Given the description of an element on the screen output the (x, y) to click on. 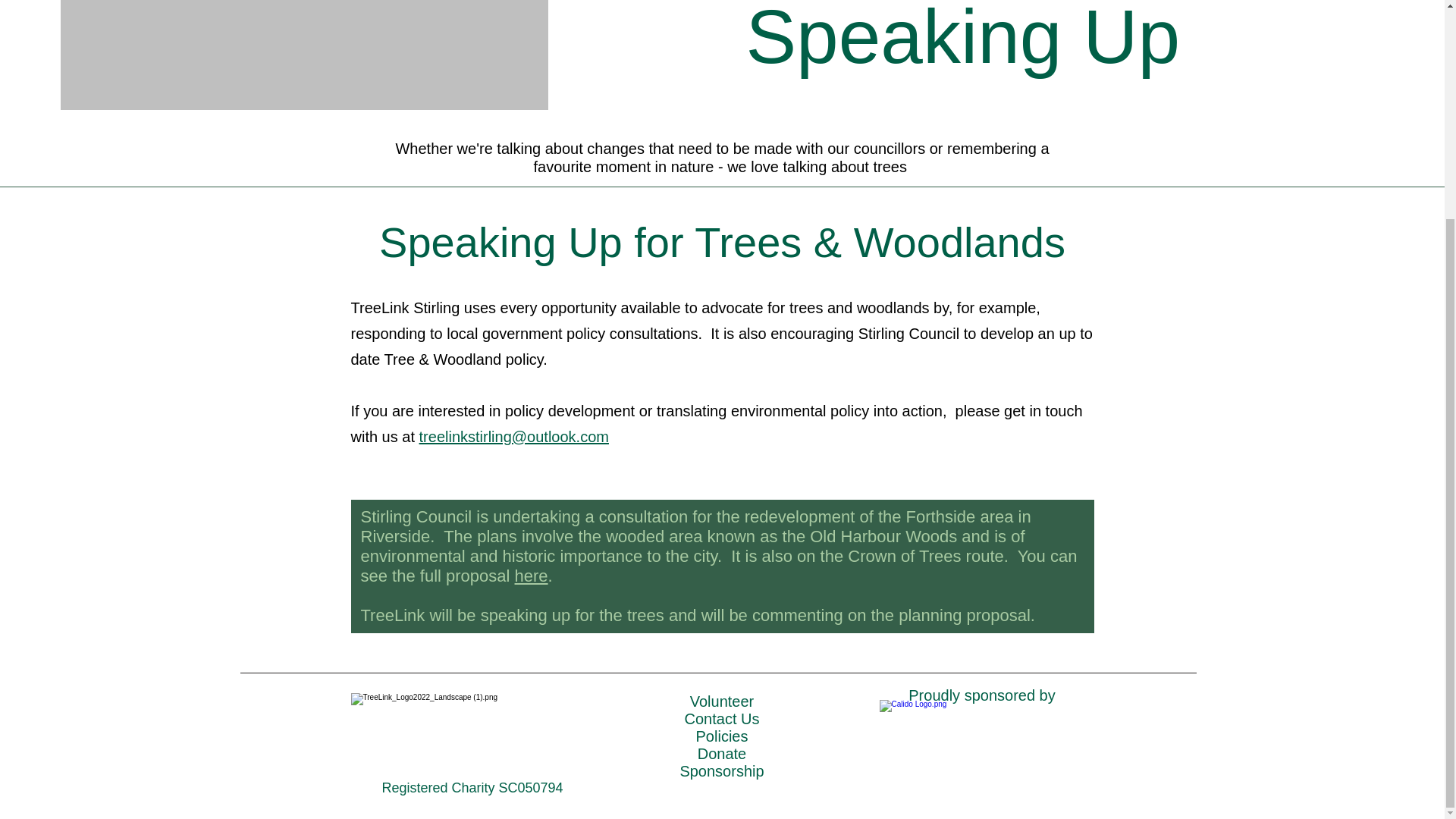
here (531, 575)
Donate (721, 753)
Volunteer (722, 701)
Sponsorship (720, 770)
Contact Us (722, 718)
Registered Charity SC050794 (471, 787)
Proudly sponsored by (981, 695)
Policies (721, 736)
